Given the description of an element on the screen output the (x, y) to click on. 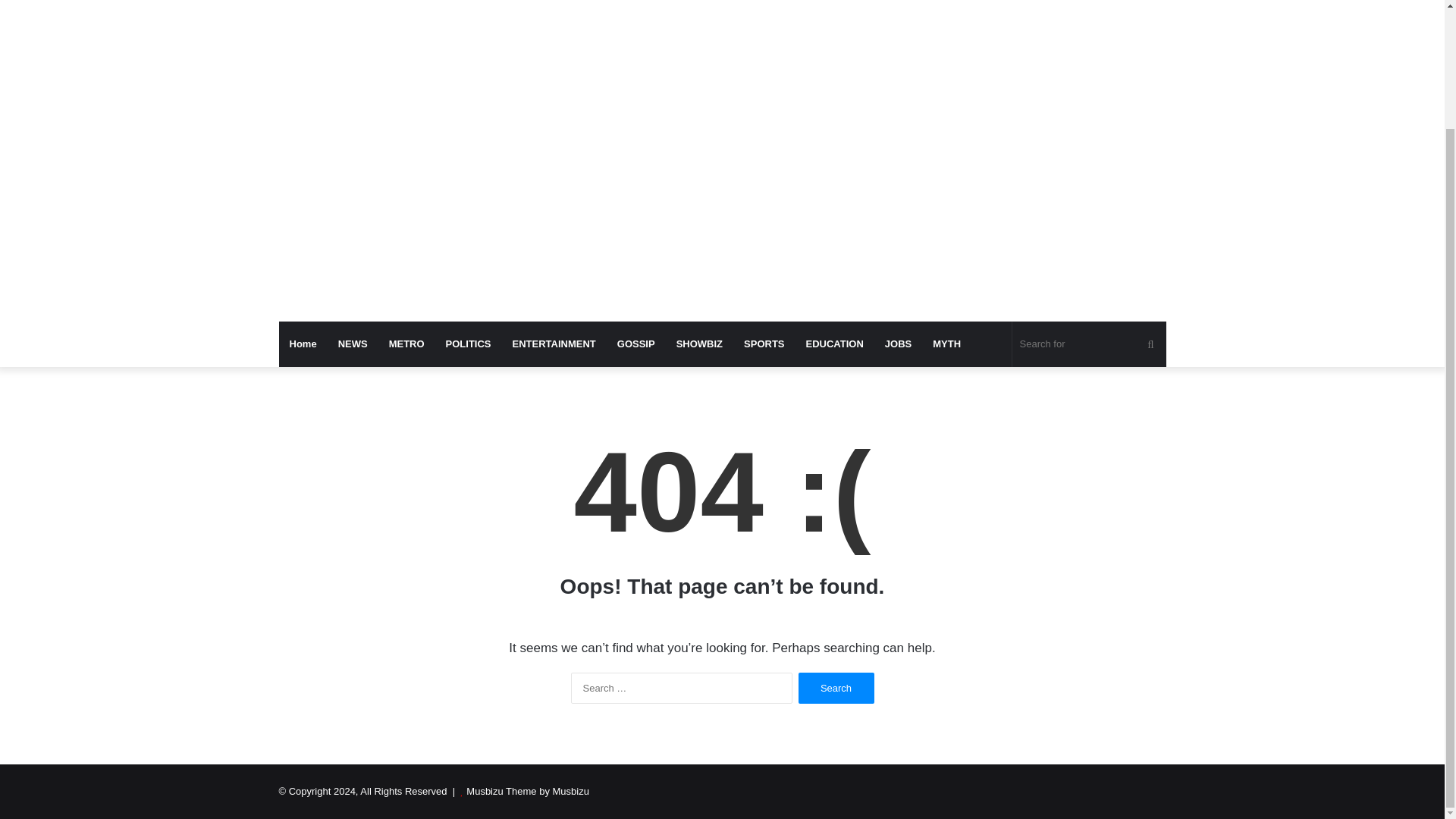
Search (835, 687)
EDUCATION (834, 343)
METRO (406, 343)
ENTERTAINMENT (554, 343)
Search (835, 687)
Search (835, 687)
JOBS (898, 343)
GOSSIP (636, 343)
Musbizu (419, 4)
